Given the description of an element on the screen output the (x, y) to click on. 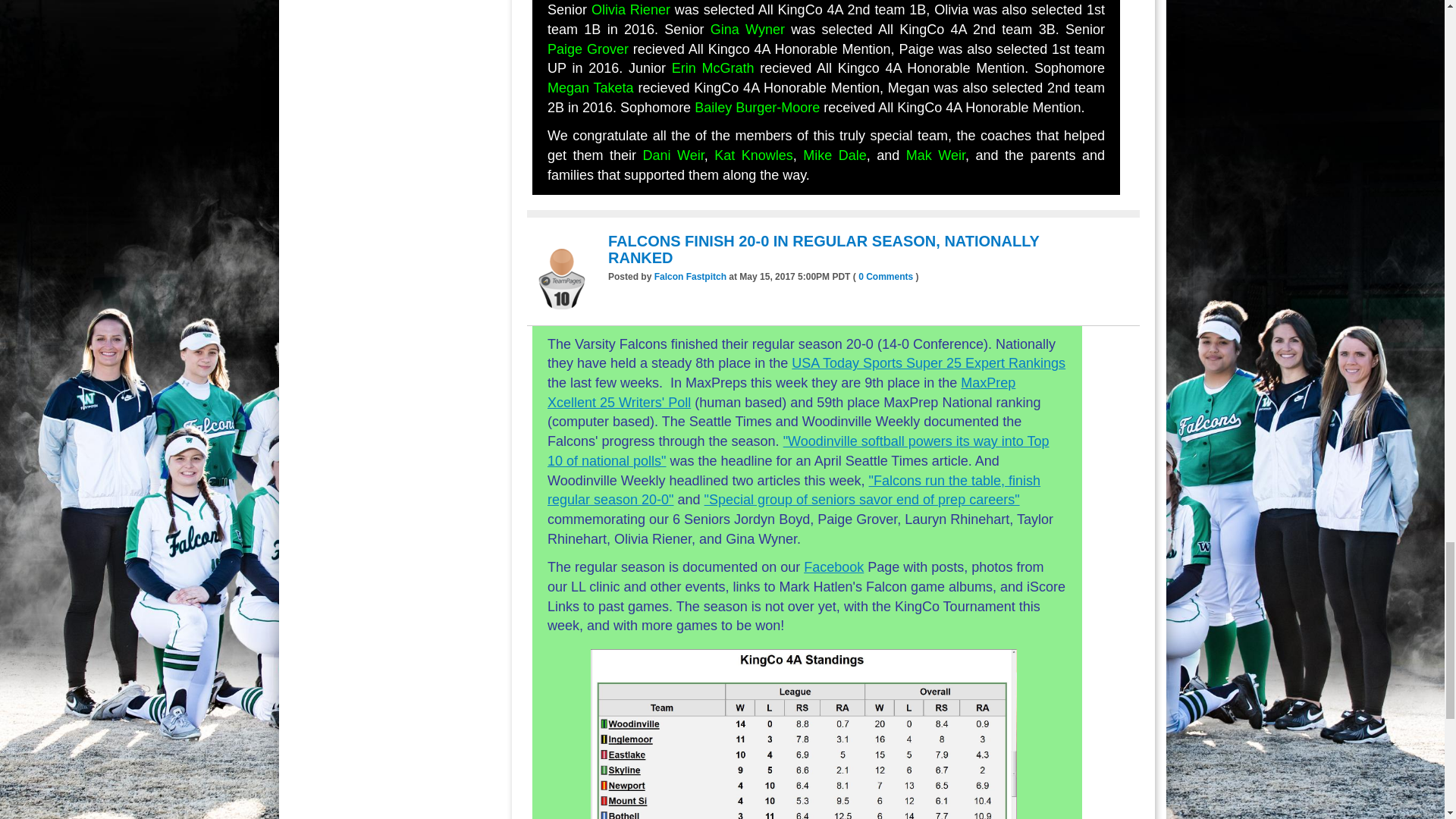
USA Today Super 25 Expert Rankings (928, 363)
MaxPrep Xcellent 25 Writers' Poll (780, 392)
